Given the description of an element on the screen output the (x, y) to click on. 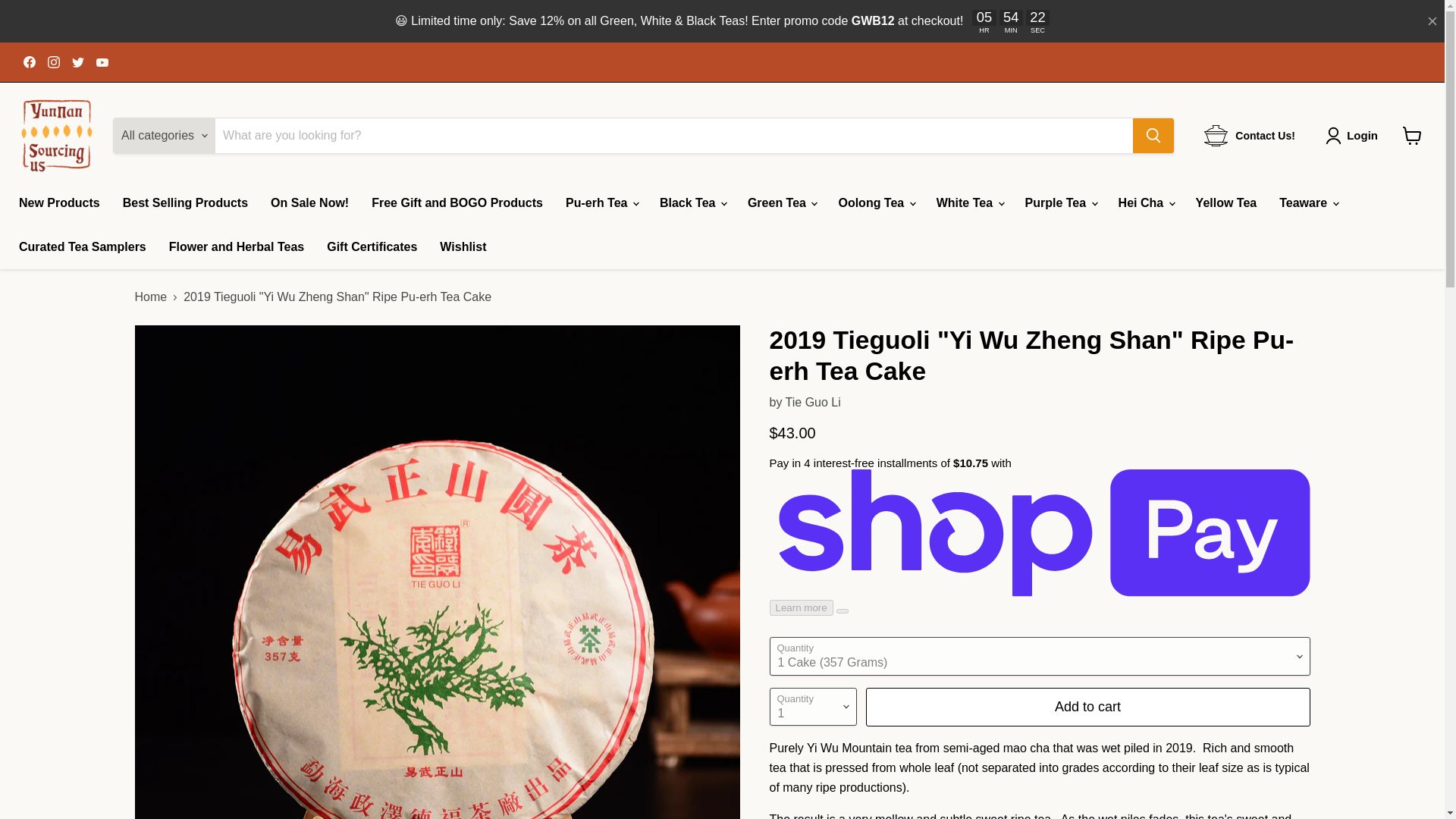
Free Gift and BOGO Products (456, 203)
New Products (59, 203)
Find us on Twitter (77, 61)
Find us on Facebook (29, 61)
YouTube (102, 61)
On Sale Now! (309, 203)
Twitter (77, 61)
Find us on YouTube (102, 61)
Find us on Instagram (53, 61)
Facebook (29, 61)
